Given the description of an element on the screen output the (x, y) to click on. 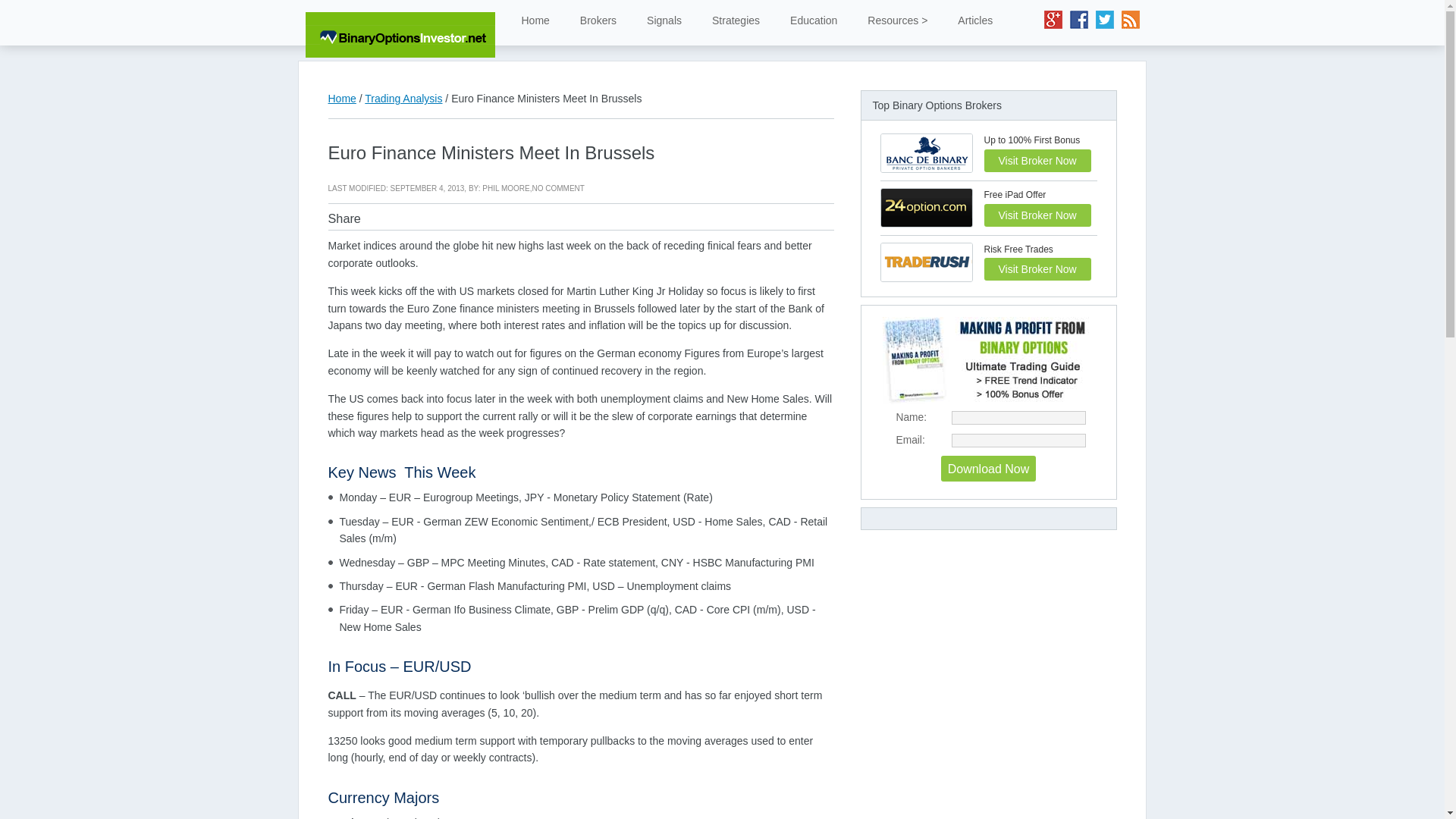
Facebook (1077, 19)
Start Your Trading at 24option (1037, 214)
NO COMMENT (557, 188)
Trade with BDB today (1037, 160)
Signals (664, 20)
Visit Broker Now (1037, 160)
Home (341, 98)
Home (535, 20)
PHIL MOORE (505, 188)
Google Plus (1052, 19)
Twitter (1103, 19)
Trading Analysis (403, 98)
Brokers (597, 20)
Comment on Euro Finance Ministers Meet In Brussels (557, 188)
Binary Options Investor (399, 33)
